Given the description of an element on the screen output the (x, y) to click on. 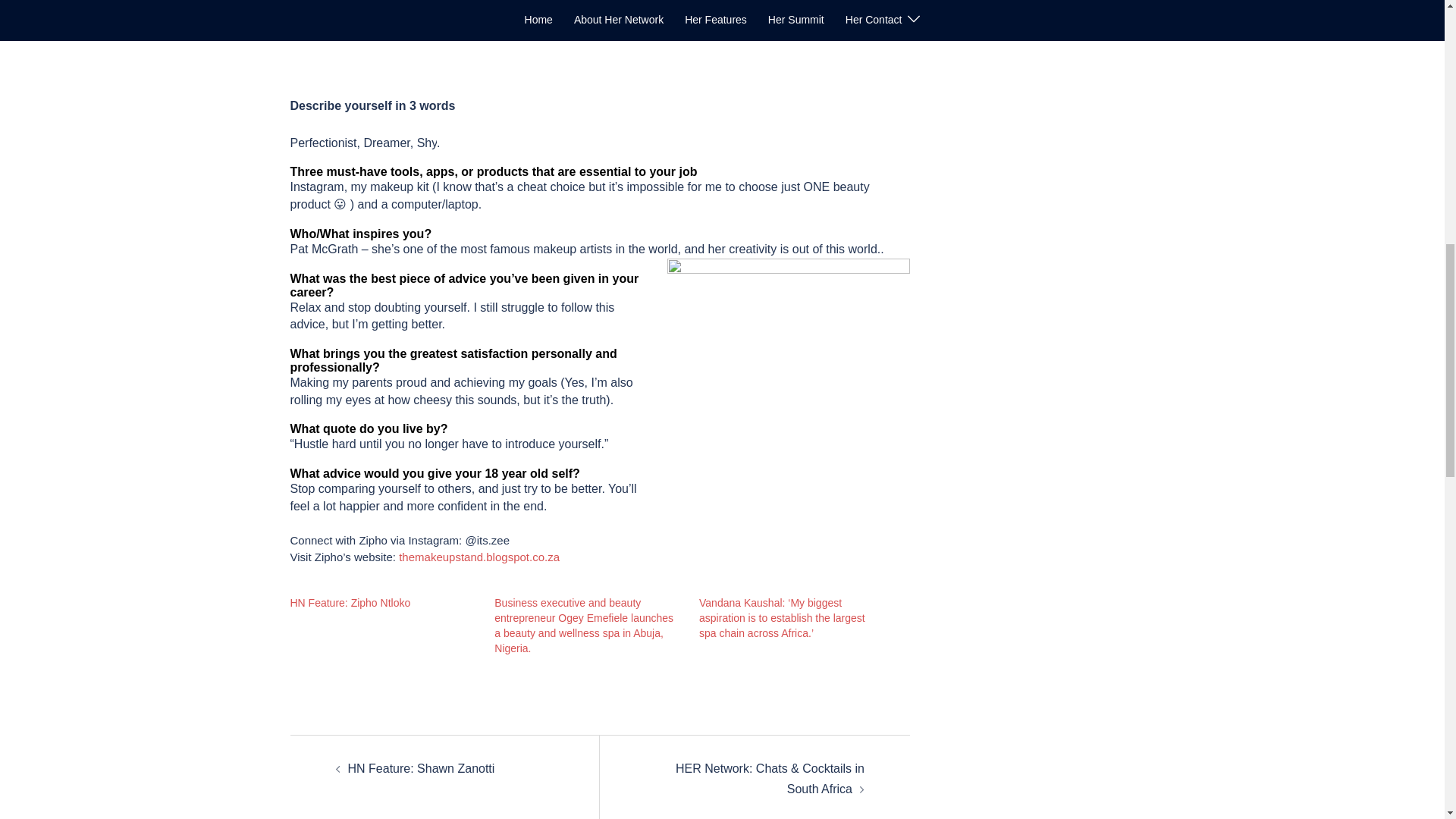
themakeupstand.blogspot.co.za (478, 556)
HN Feature: Shawn Zanotti (421, 768)
HN Feature: Zipho Ntloko (349, 603)
HN Feature: Zipho Ntloko (349, 603)
